Given the description of an element on the screen output the (x, y) to click on. 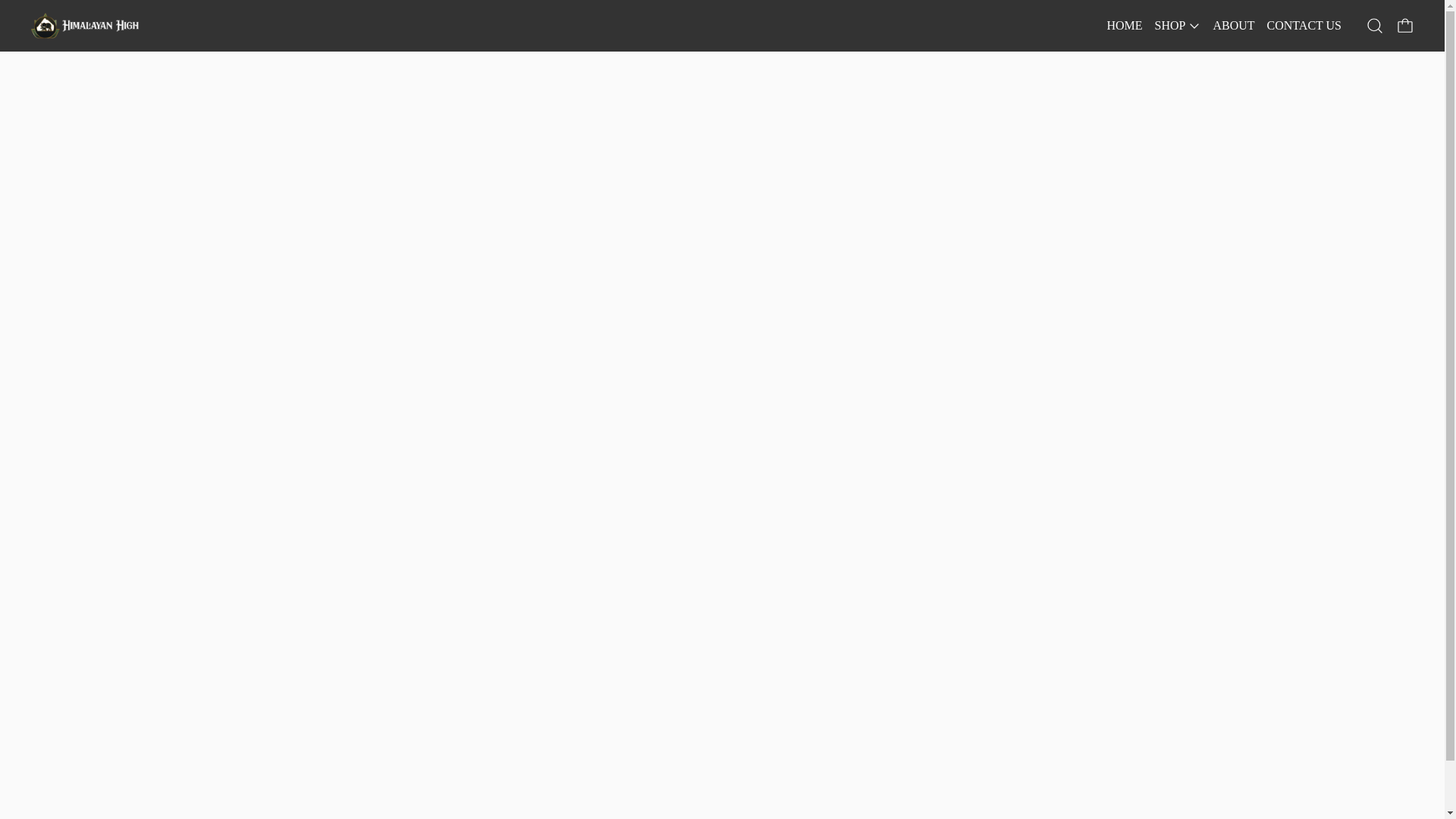
CONTACT US (1303, 24)
HOME (1123, 24)
SHOP (1177, 25)
ABOUT (1232, 24)
